Given the description of an element on the screen output the (x, y) to click on. 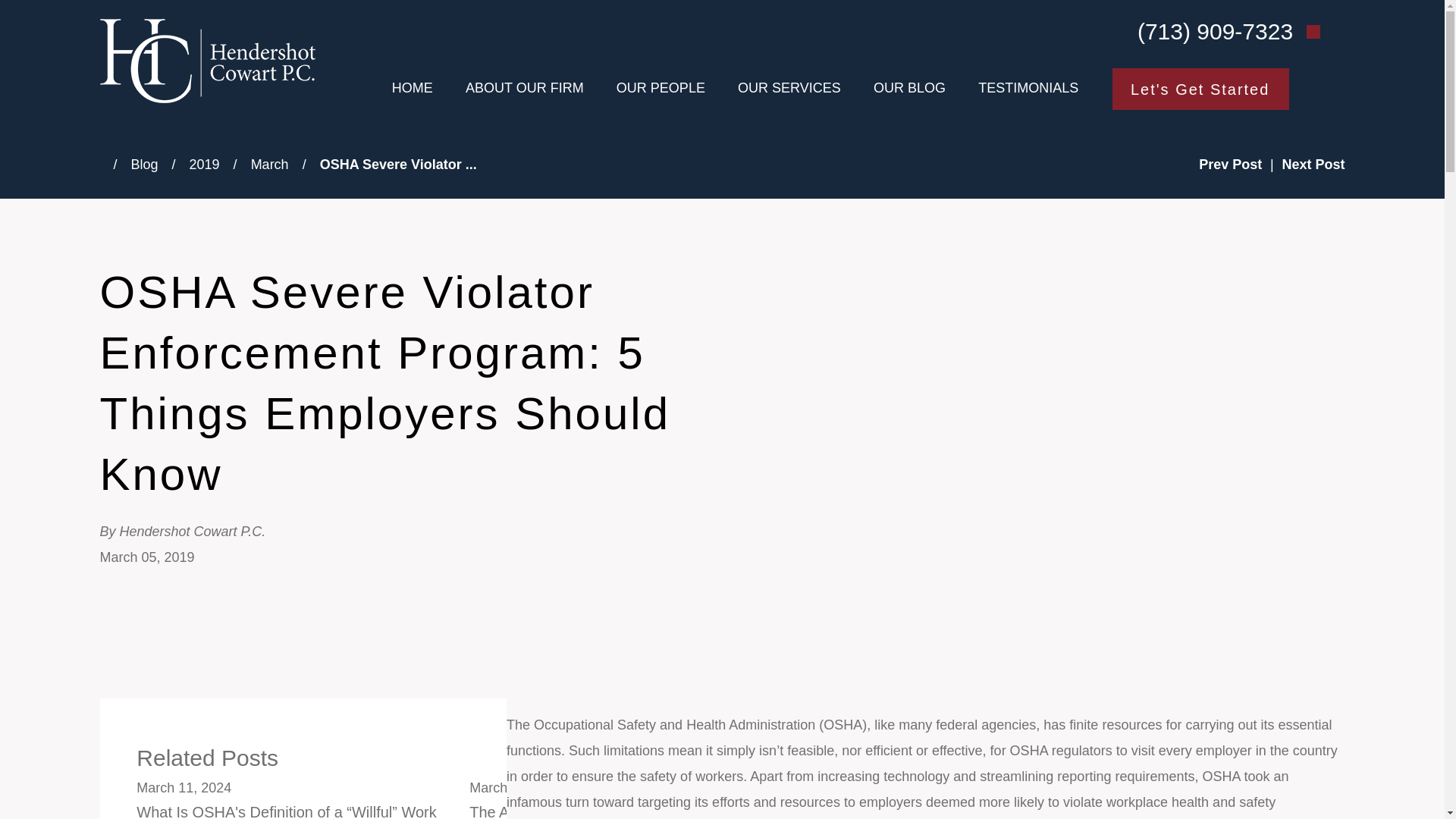
HOME (411, 88)
OUR SERVICES (789, 88)
Search Our Site (1313, 31)
Hendershot Cowart P.C. (207, 60)
Open the accessibility options menu (1423, 798)
OUR PEOPLE (659, 88)
ABOUT OUR FIRM (524, 88)
